Given the description of an element on the screen output the (x, y) to click on. 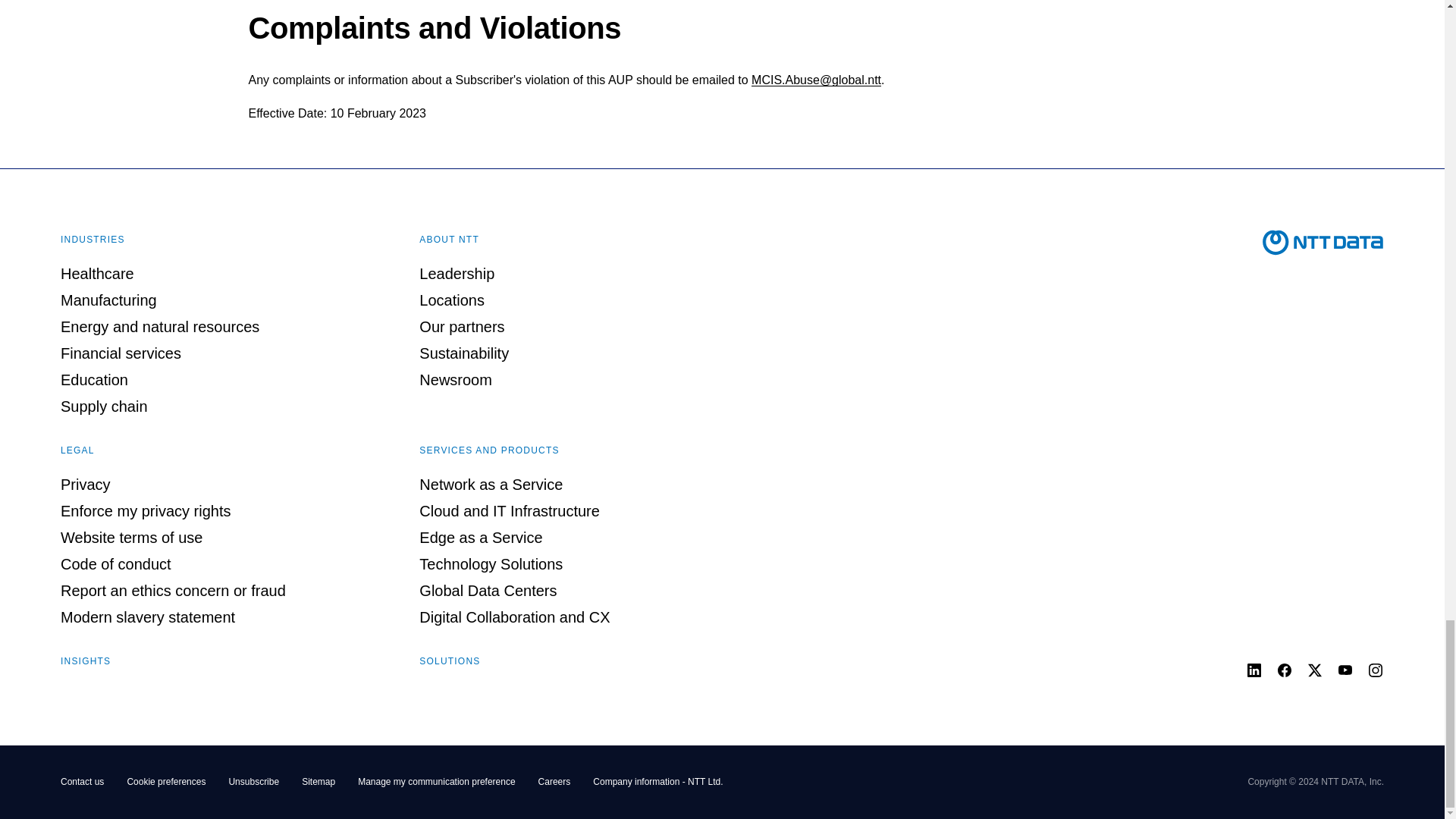
Manufacturing (109, 299)
INDUSTRIES (93, 239)
ABOUT NTT (449, 239)
Financial services (120, 352)
Healthcare (97, 273)
Supply chain (104, 406)
Education (94, 379)
Energy and natural resources (160, 326)
Leadership (457, 273)
